Given the description of an element on the screen output the (x, y) to click on. 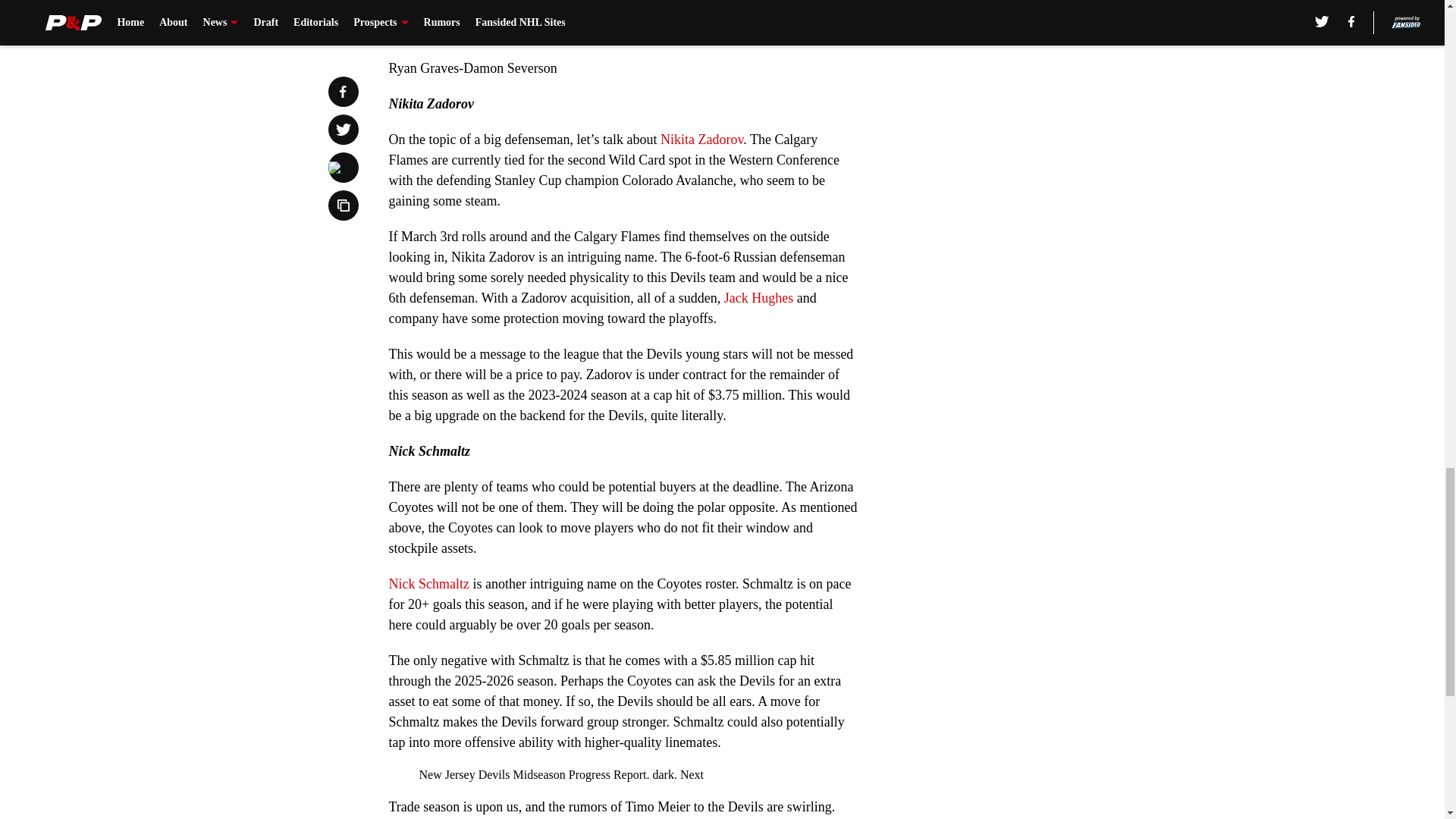
John Marino (516, 32)
Nick Schmaltz (428, 583)
Nikita Zadorov (701, 139)
Jack Hughes (758, 297)
